Given the description of an element on the screen output the (x, y) to click on. 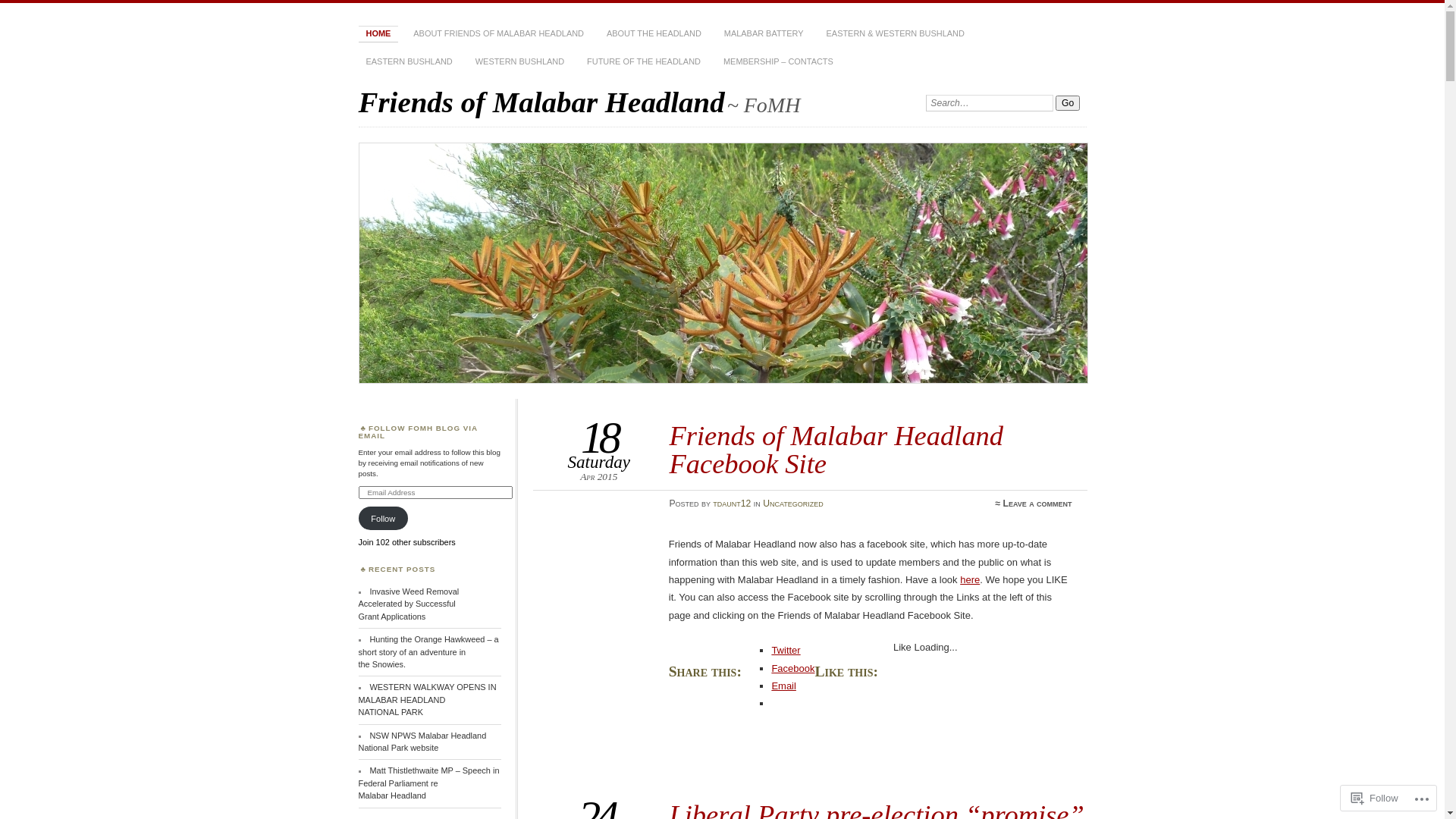
Go Element type: text (1067, 102)
Leave a comment Element type: text (1037, 503)
Friends of Malabar Headland Element type: hover (722, 262)
Like or Reblog Element type: hover (870, 750)
Friends of Malabar Headland Element type: text (540, 101)
Facebook Element type: text (792, 668)
FUTURE OF THE HEADLAND Element type: text (643, 61)
Follow Element type: text (1374, 797)
NSW NPWS Malabar Headland National Park website Element type: text (421, 741)
ABOUT THE HEADLAND Element type: text (654, 33)
EASTERN BUSHLAND Element type: text (408, 61)
Follow Element type: text (382, 518)
here Element type: text (969, 579)
Uncategorized Element type: text (792, 503)
ABOUT FRIENDS OF MALABAR HEADLAND Element type: text (498, 33)
tdaunt12 Element type: text (731, 503)
WESTERN BUSHLAND Element type: text (519, 61)
MALABAR BATTERY Element type: text (763, 33)
WESTERN WALKWAY OPENS IN MALABAR HEADLAND NATIONAL PARK Element type: text (426, 699)
Friends of Malabar Headland Facebook Site Element type: text (835, 449)
EASTERN & WESTERN BUSHLAND Element type: text (895, 33)
HOME Element type: text (377, 33)
Email Element type: text (783, 685)
Twitter Element type: text (785, 649)
